Given the description of an element on the screen output the (x, y) to click on. 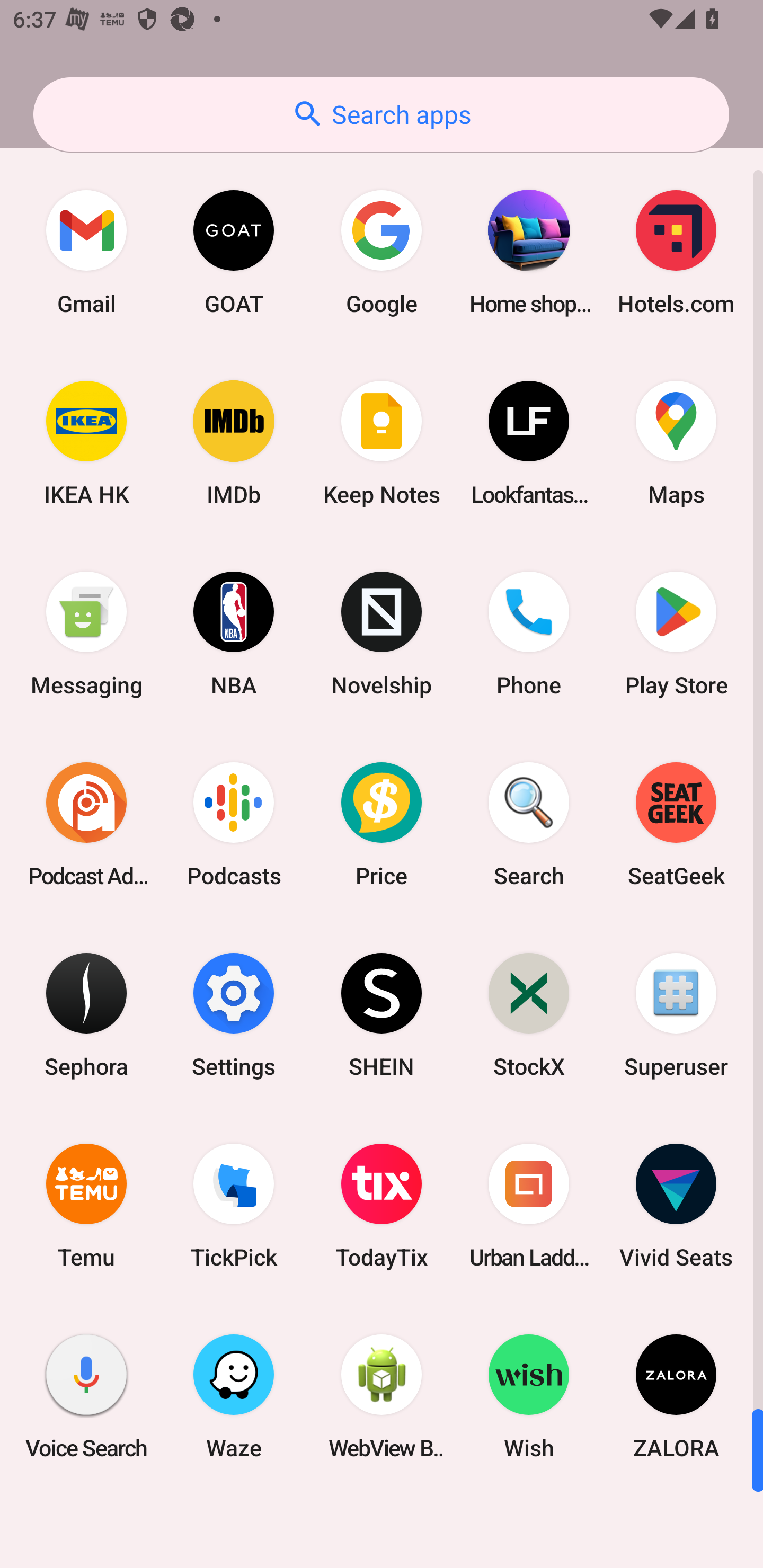
  Search apps (381, 114)
Gmail (86, 252)
GOAT (233, 252)
Google (381, 252)
Home shopping (528, 252)
Hotels.com (676, 252)
IKEA HK (86, 442)
IMDb (233, 442)
Keep Notes (381, 442)
Lookfantastic (528, 442)
Maps (676, 442)
Messaging (86, 633)
NBA (233, 633)
Novelship (381, 633)
Phone (528, 633)
Play Store (676, 633)
Podcast Addict (86, 823)
Podcasts (233, 823)
Price (381, 823)
Search (528, 823)
SeatGeek (676, 823)
Sephora (86, 1014)
Settings (233, 1014)
SHEIN (381, 1014)
StockX (528, 1014)
Superuser (676, 1014)
Temu (86, 1205)
TickPick (233, 1205)
TodayTix (381, 1205)
Urban Ladder (528, 1205)
Vivid Seats (676, 1205)
Voice Search (86, 1396)
Waze (233, 1396)
WebView Browser Tester (381, 1396)
Wish (528, 1396)
ZALORA (676, 1396)
